Given the description of an element on the screen output the (x, y) to click on. 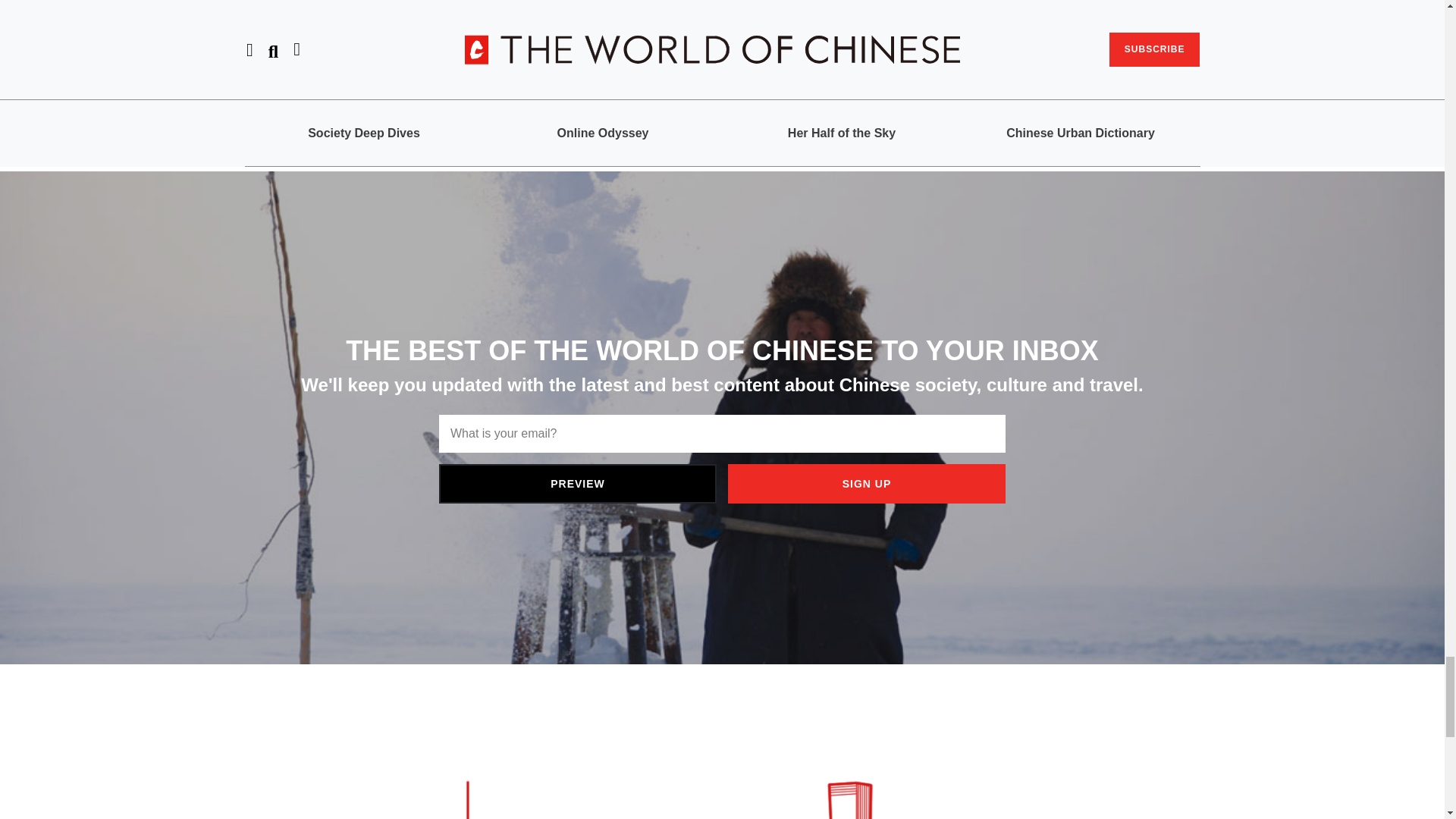
SIGN UP (867, 483)
